Given the description of an element on the screen output the (x, y) to click on. 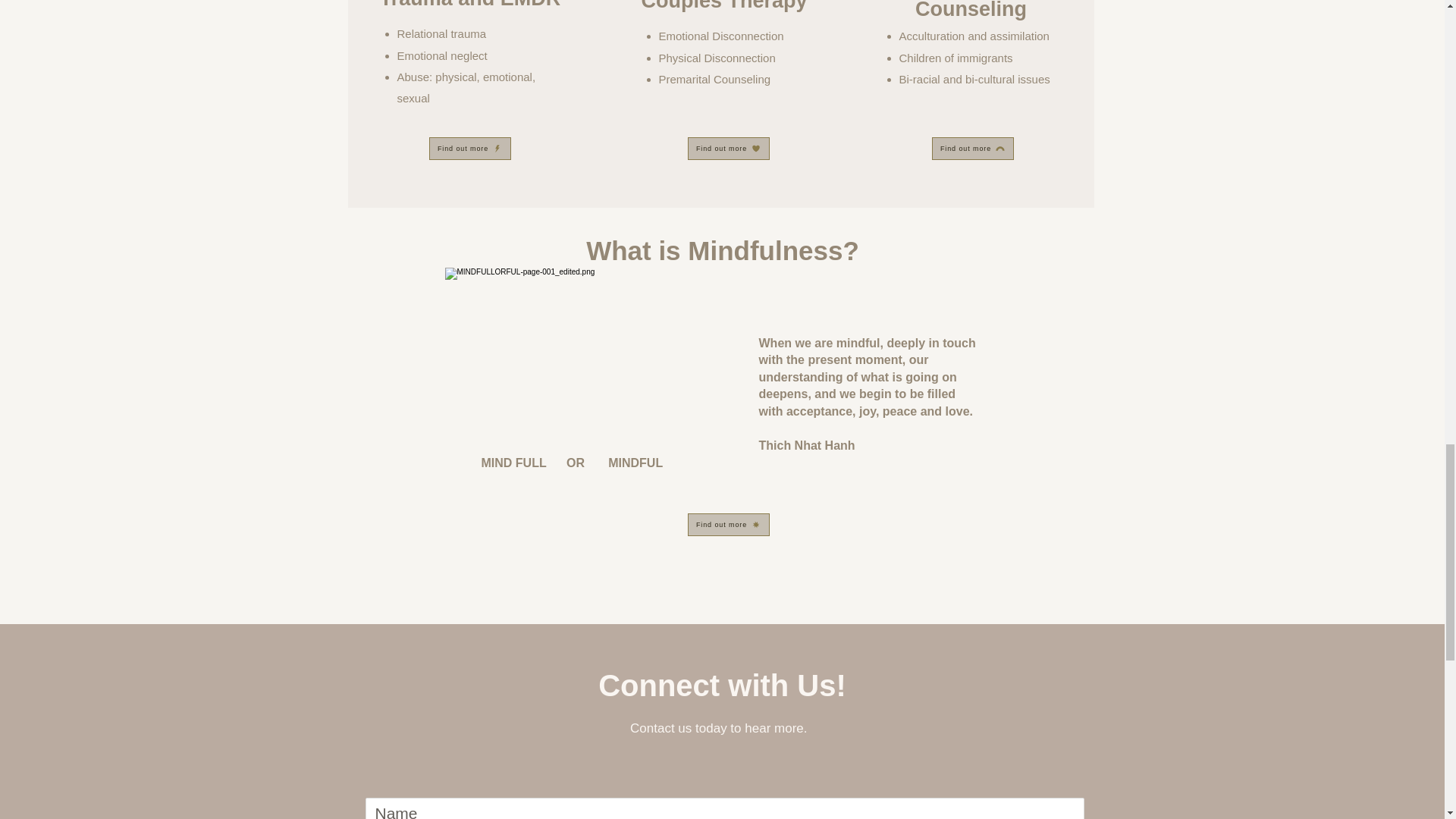
Find out more (727, 148)
What is Mindfulness? (722, 251)
Find out more (972, 148)
Find out more (470, 148)
Find out more (727, 524)
